Given the description of an element on the screen output the (x, y) to click on. 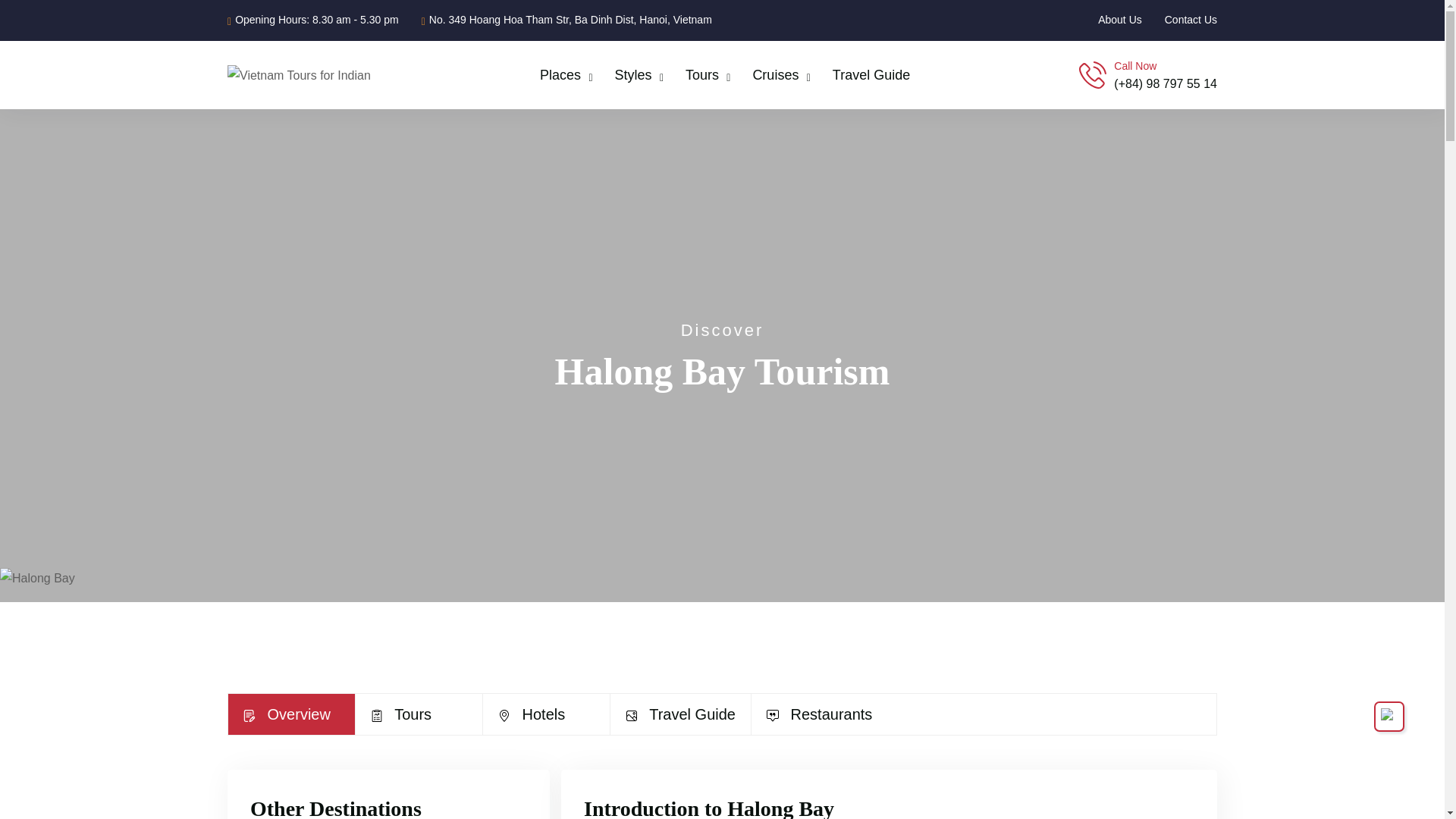
Contact Us (1190, 20)
About Us (1119, 20)
About Us (1119, 20)
Vietnam Tours for Indian (299, 74)
Contact Us (1190, 20)
